Given the description of an element on the screen output the (x, y) to click on. 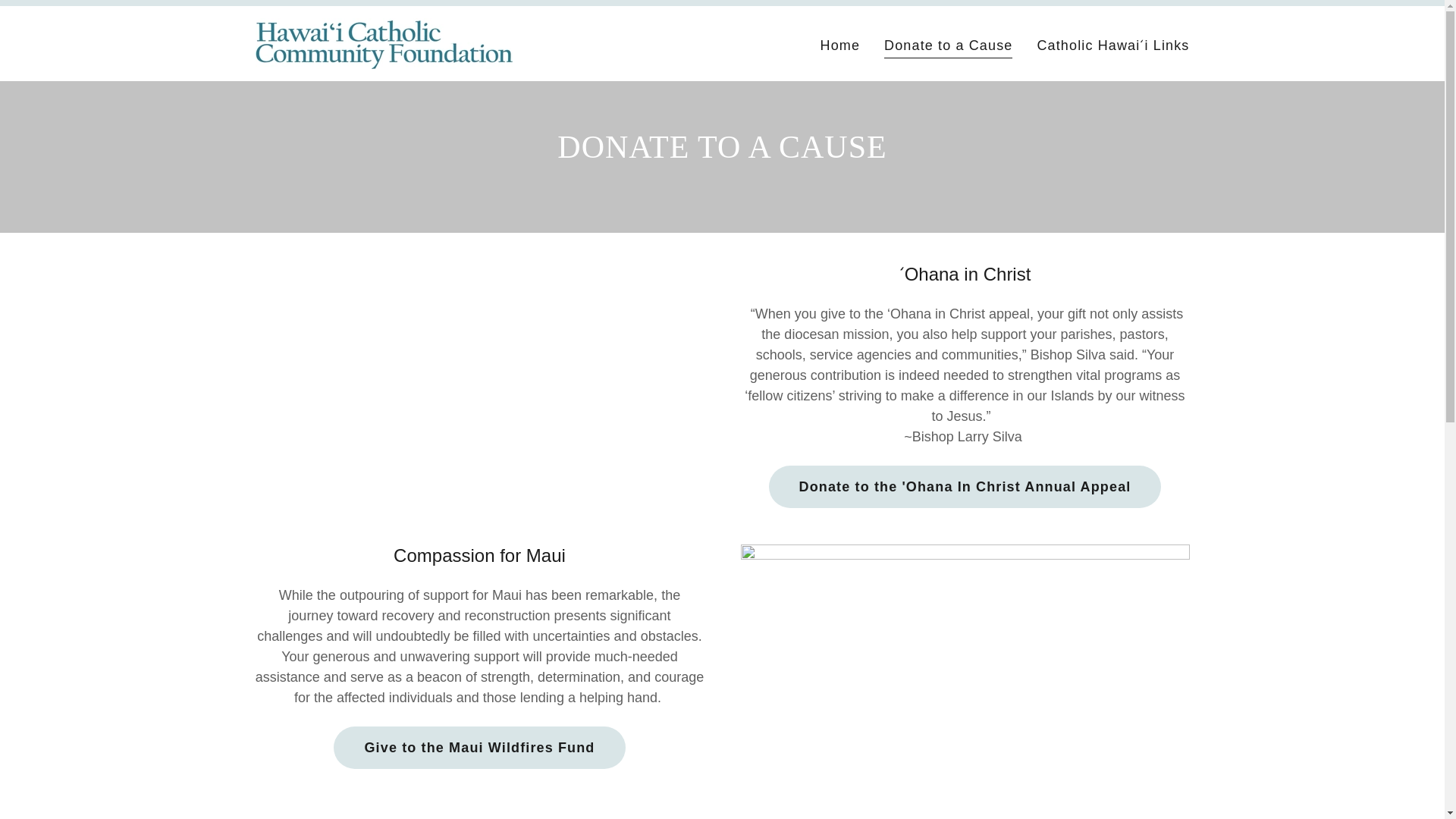
Give to the Maui Wildfires Fund (478, 747)
Donate to a Cause (947, 47)
Donate to the 'Ohana In Christ Annual Appeal (964, 486)
Home (839, 44)
